Given the description of an element on the screen output the (x, y) to click on. 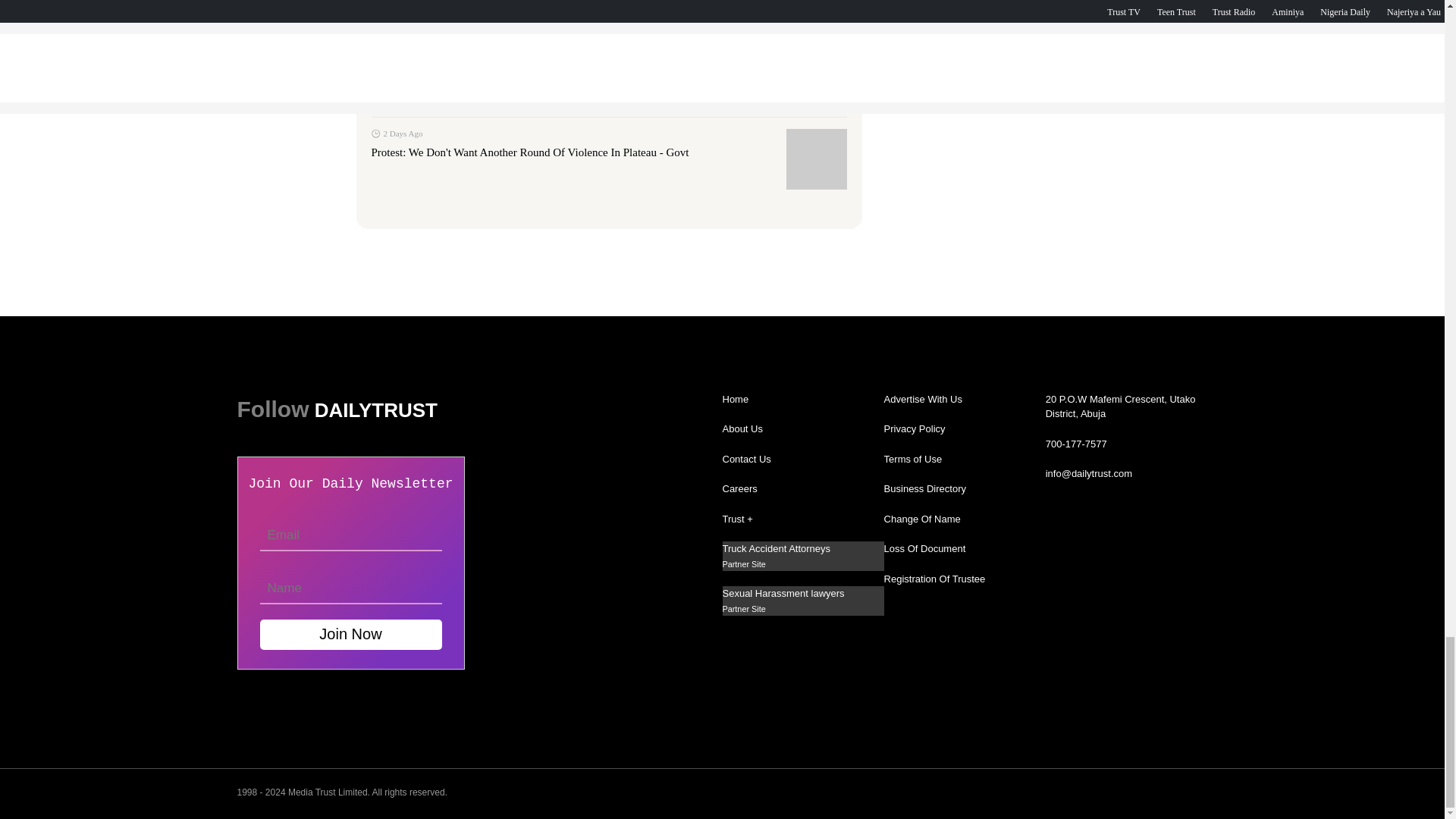
Join Now (350, 634)
